Given the description of an element on the screen output the (x, y) to click on. 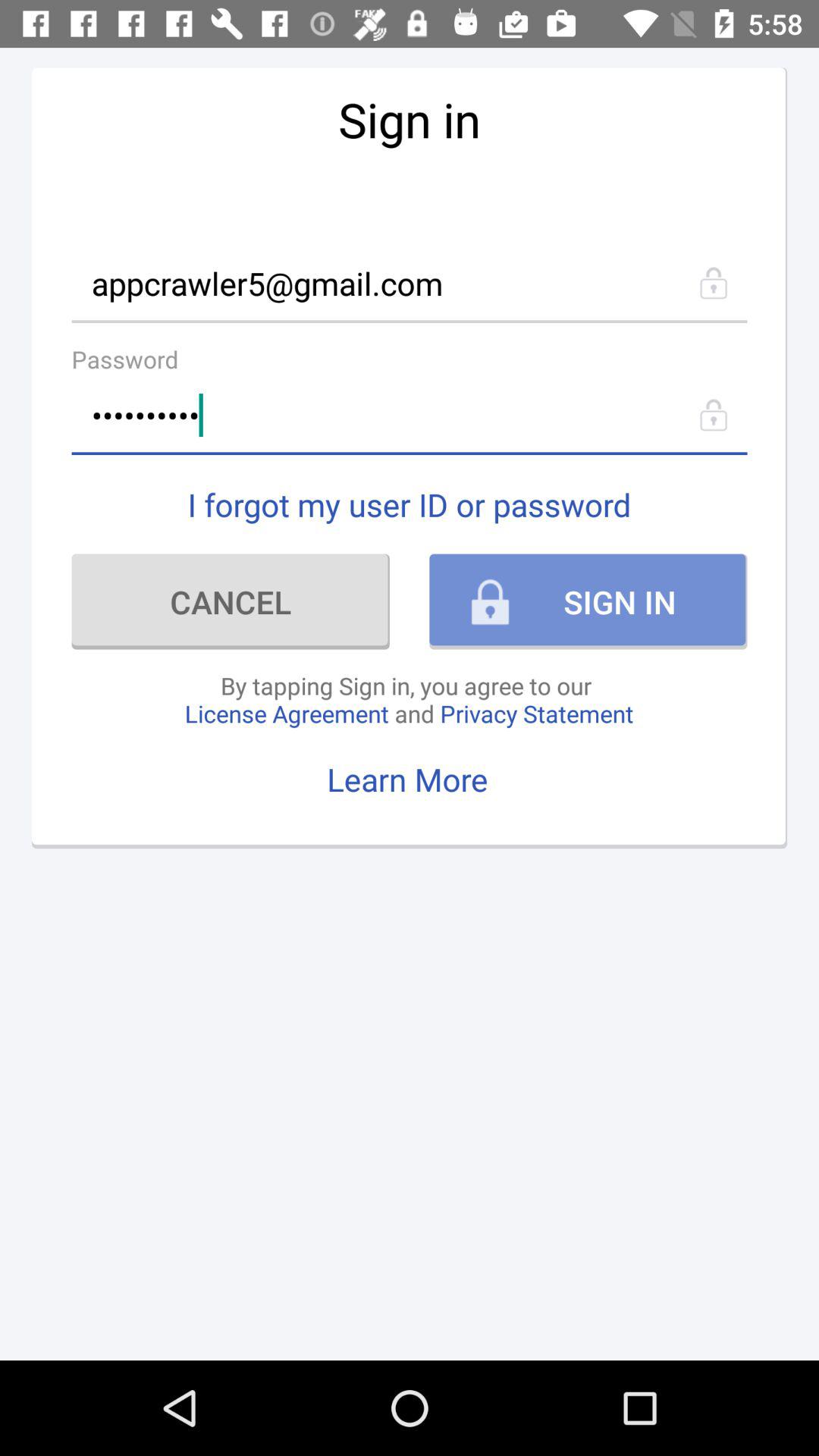
open the icon below sign in icon (409, 283)
